Given the description of an element on the screen output the (x, y) to click on. 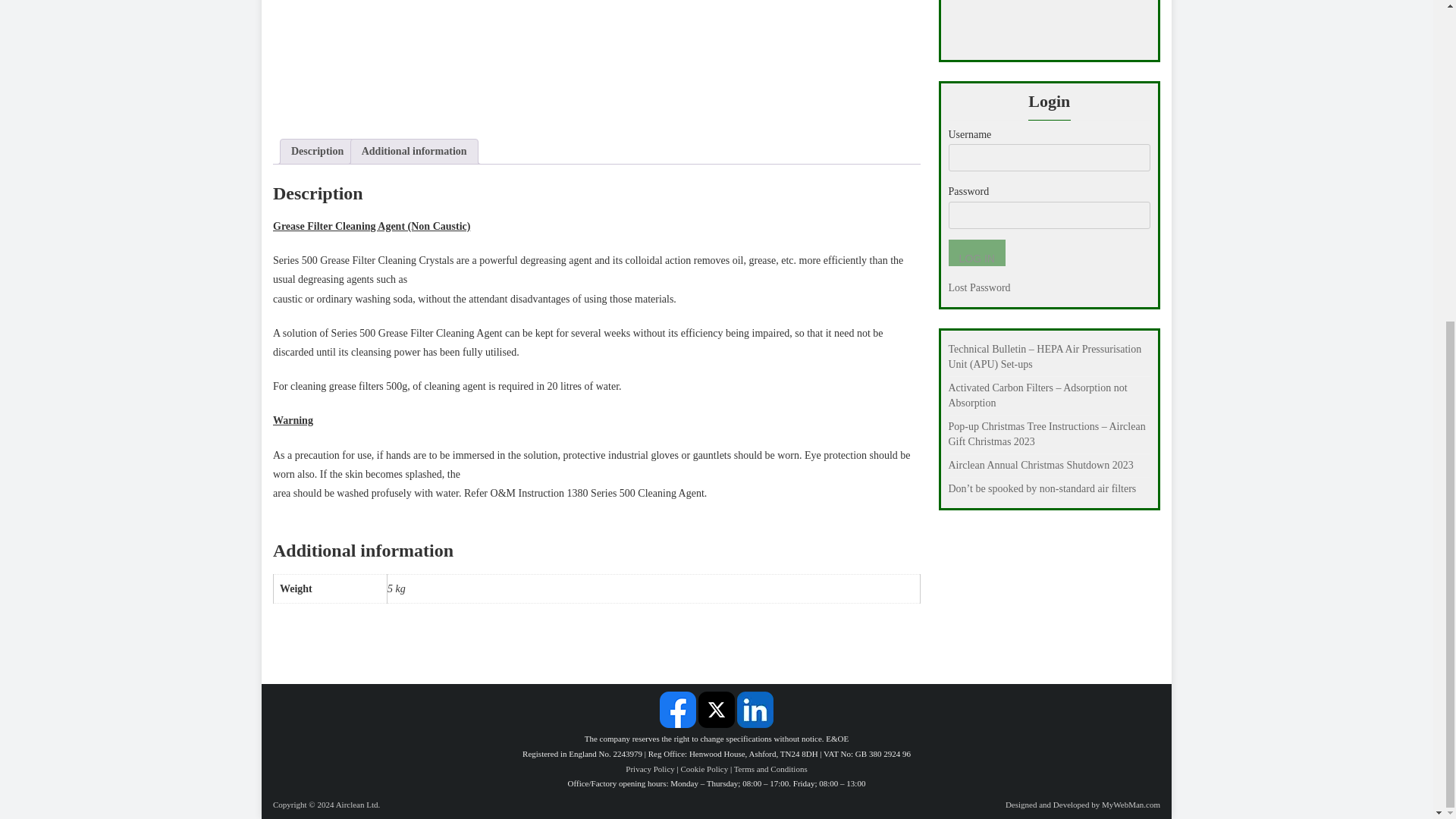
Log In (975, 252)
